Given the description of an element on the screen output the (x, y) to click on. 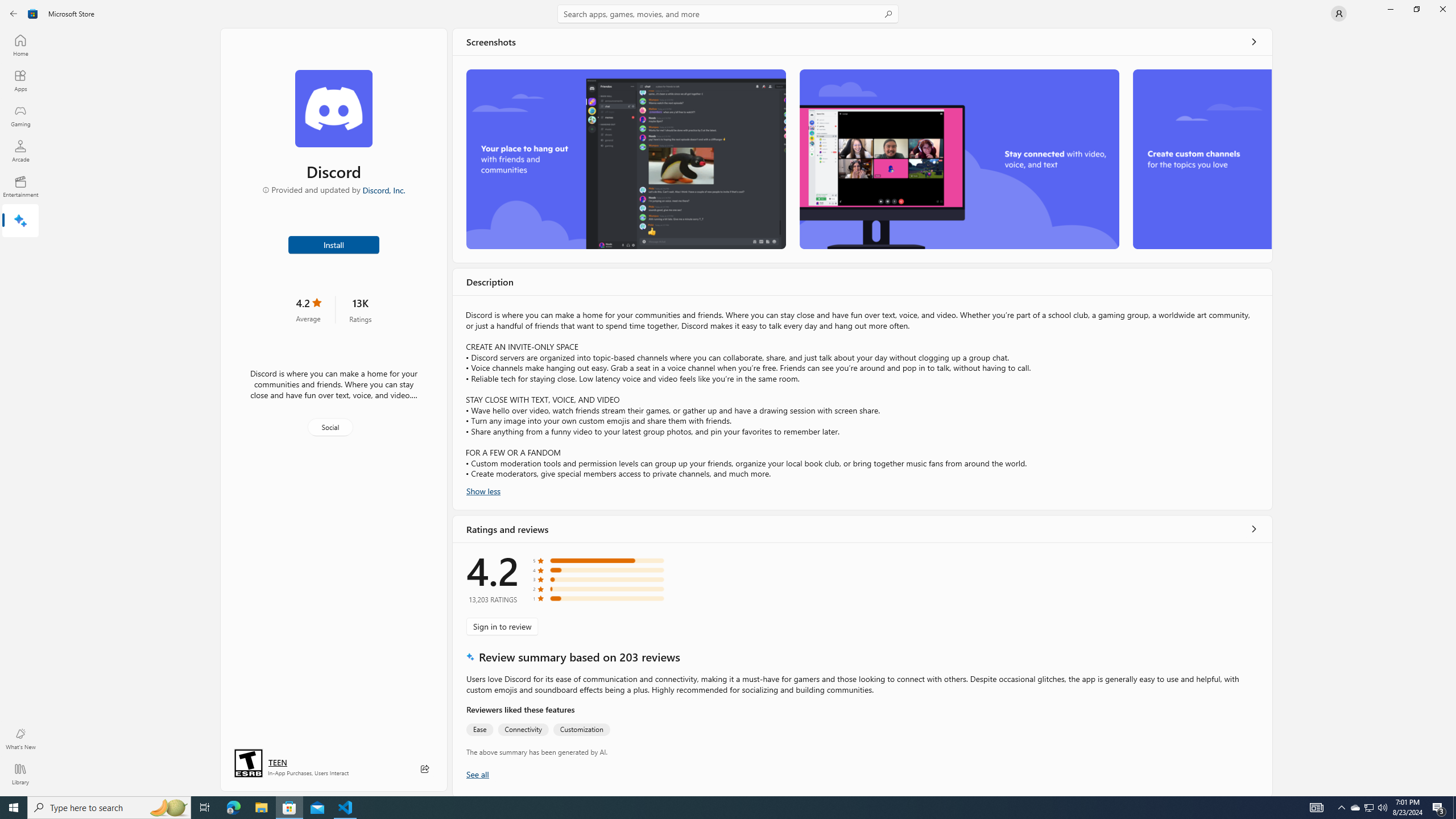
What's New (20, 738)
Back (13, 13)
Minimize Microsoft Store (1390, 9)
Screenshot 1 (625, 158)
Screenshot 3 (1201, 158)
Show all ratings and reviews (1253, 529)
Screenshot 2 (959, 158)
Class: Image (32, 13)
Apps (20, 80)
Share (424, 769)
Gaming (20, 115)
Restore Microsoft Store (1416, 9)
Install (334, 244)
User profile (1338, 13)
Arcade (20, 150)
